Given the description of an element on the screen output the (x, y) to click on. 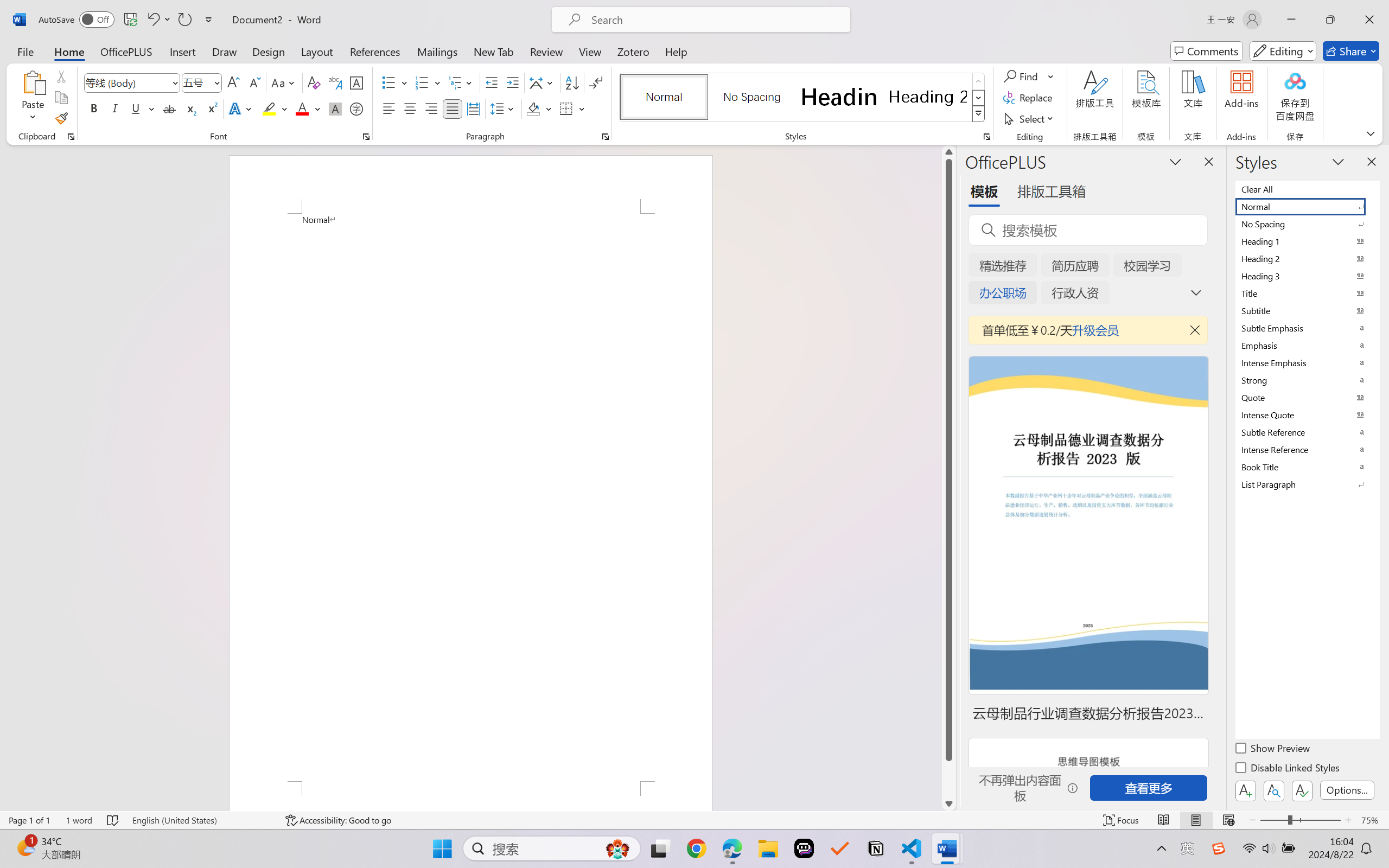
Intense Quote (1306, 414)
Print Layout (1196, 819)
List Paragraph (1306, 484)
Distributed (473, 108)
Help (675, 51)
Home (69, 51)
Styles (978, 113)
Zoom (1300, 819)
File Tab (24, 51)
Multilevel List (461, 82)
AutomationID: QuickStylesGallery (802, 97)
Strong (1306, 379)
